Given the description of an element on the screen output the (x, y) to click on. 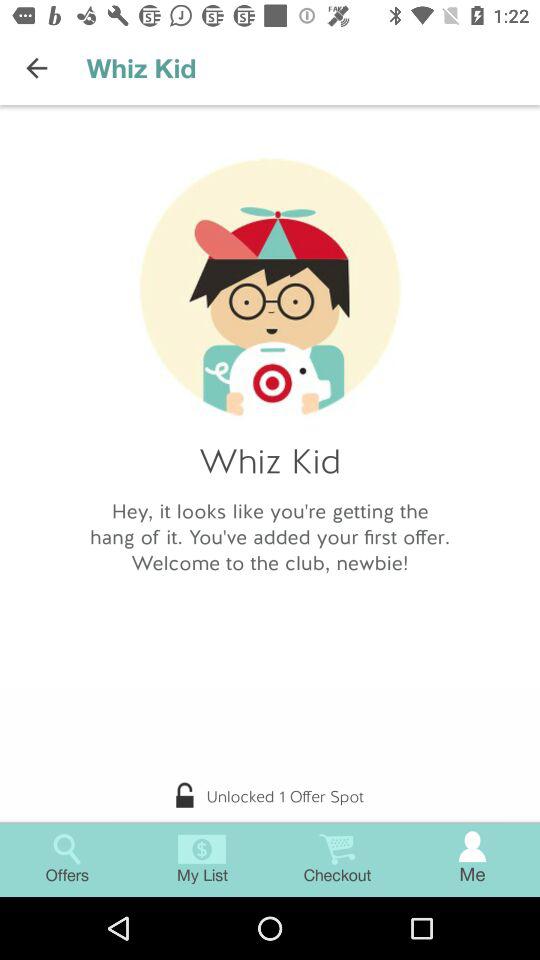
select icon next to whiz kid item (36, 67)
